Given the description of an element on the screen output the (x, y) to click on. 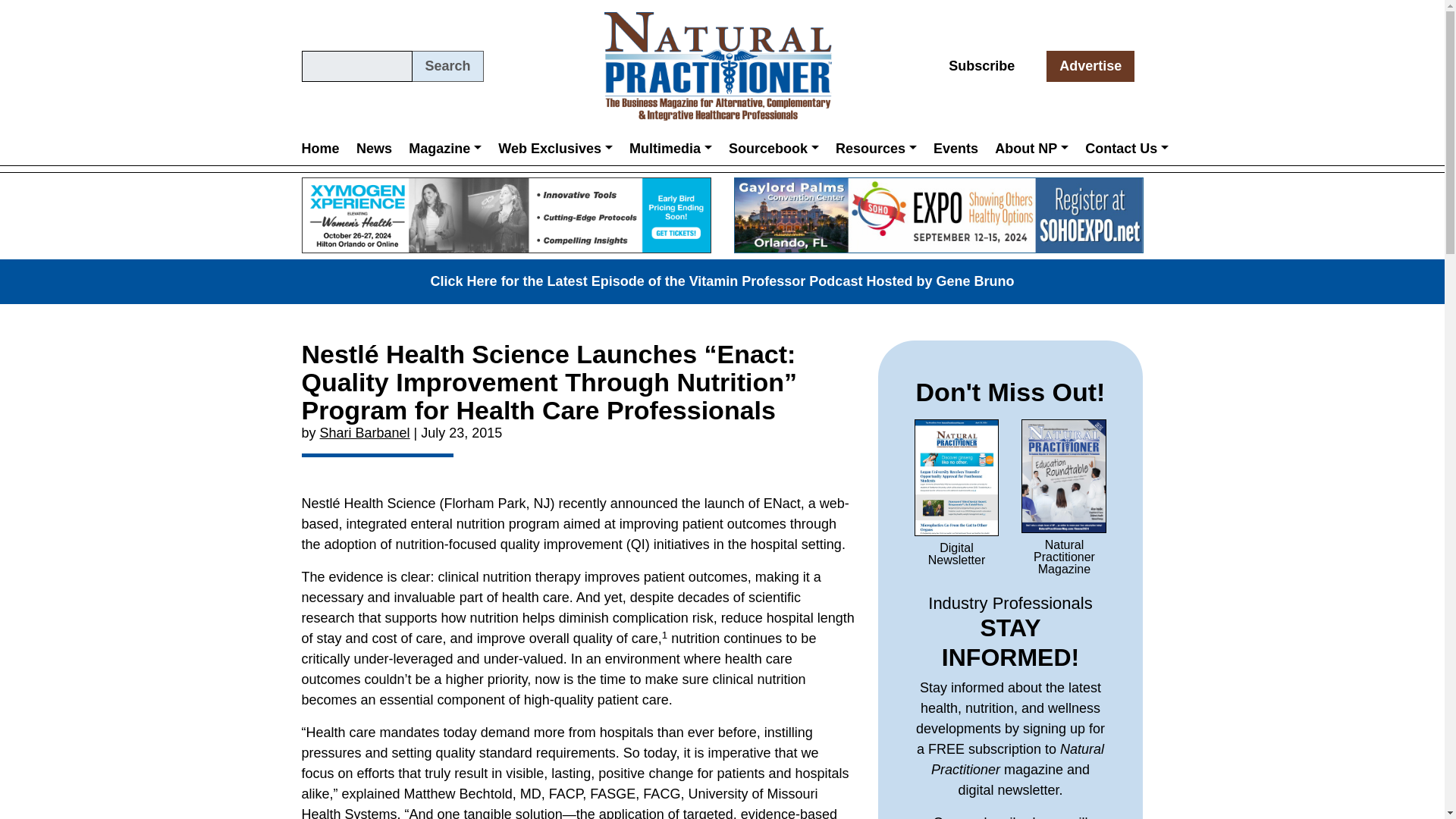
Multimedia (670, 147)
News (373, 147)
Magazine (444, 147)
Resources (875, 147)
Home (324, 147)
Home (324, 147)
Multimedia (670, 147)
Search (447, 65)
News (373, 147)
Magazine (444, 147)
